Given the description of an element on the screen output the (x, y) to click on. 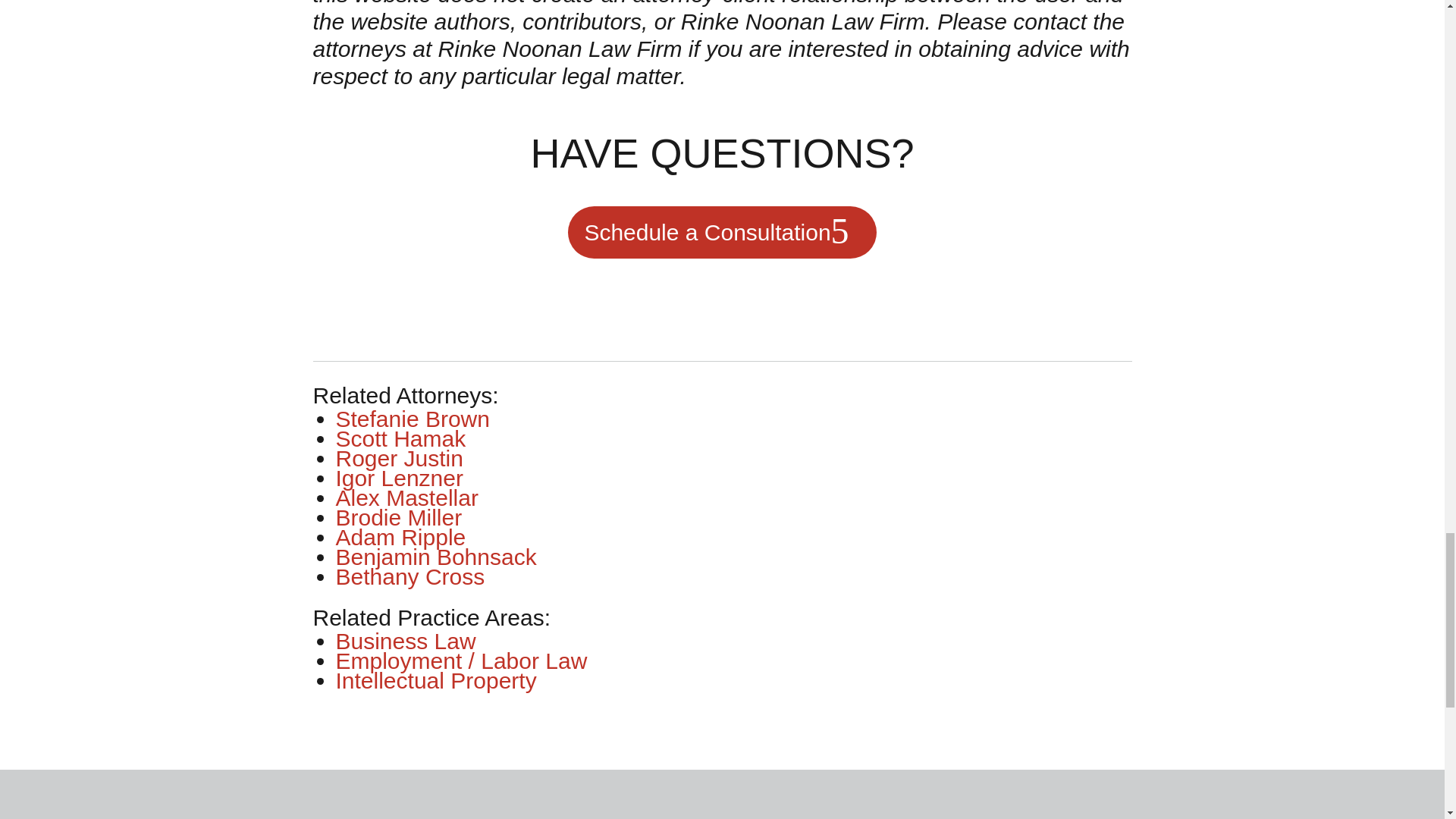
Schedule a Consultation (721, 232)
Stefanie Brown (411, 418)
Bethany Cross (409, 576)
Brodie Miller (397, 517)
Intellectual Property (434, 680)
Benjamin Bohnsack (434, 556)
Igor Lenzner (398, 478)
Scott Hamak (399, 438)
Business Law (405, 640)
Roger Justin (398, 457)
